Given the description of an element on the screen output the (x, y) to click on. 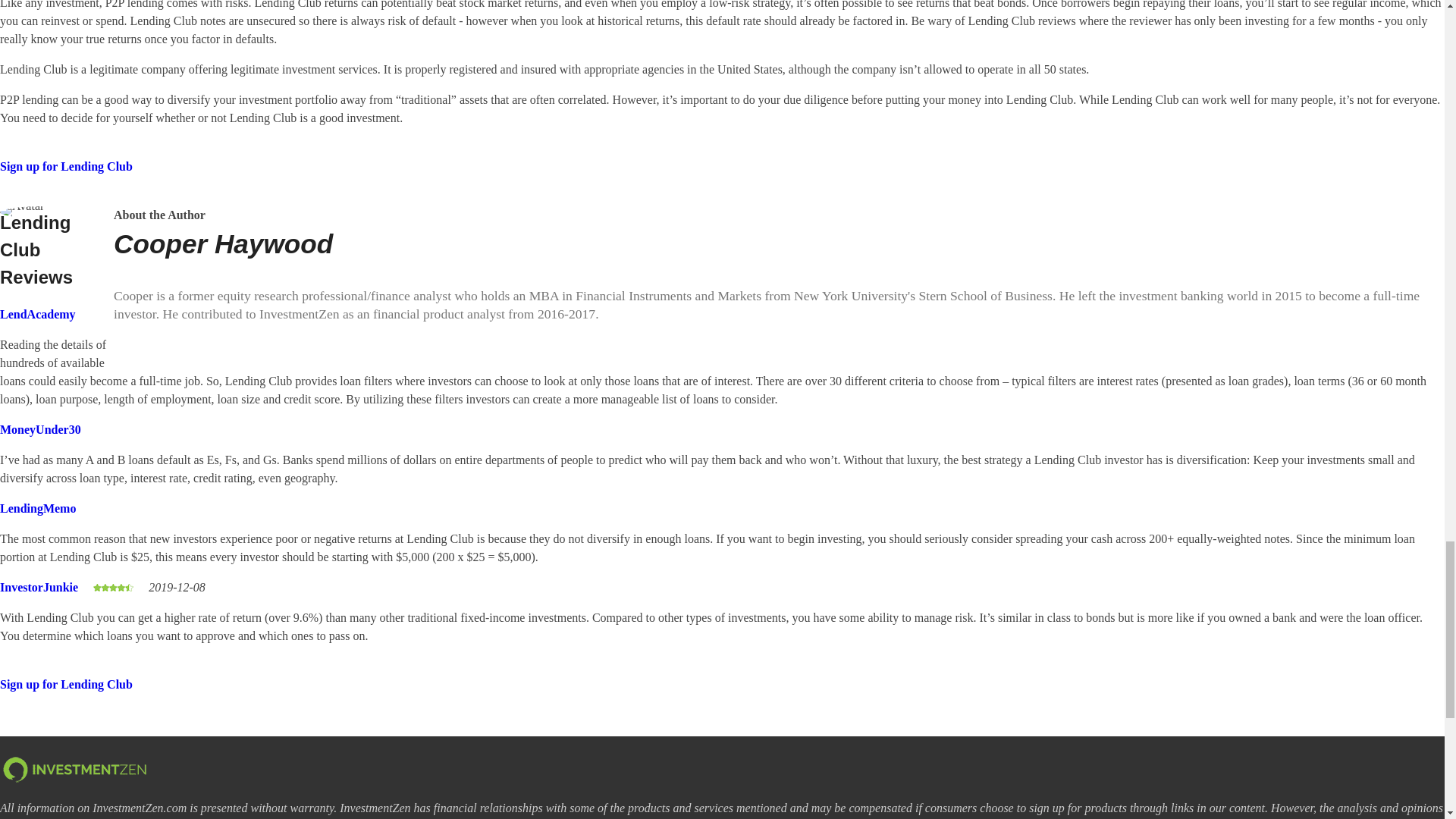
Average review 4.5 (113, 587)
Posts by Cooper Haywood (223, 243)
